Given the description of an element on the screen output the (x, y) to click on. 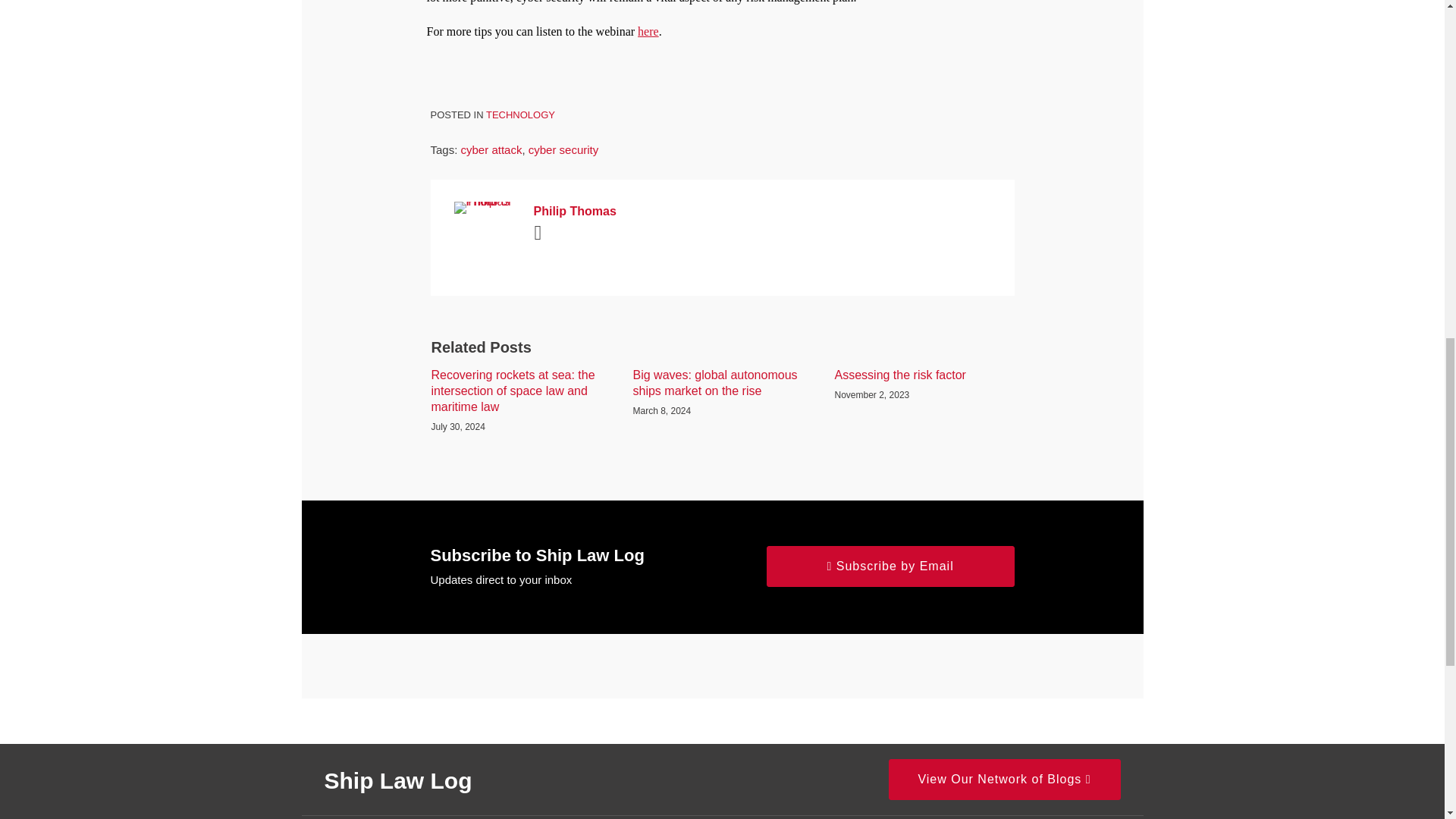
Assessing the risk factor (899, 375)
TECHNOLOGY (520, 114)
here (648, 31)
Big waves: global autonomous ships market on the rise (720, 383)
Ship Law Log (397, 780)
Subscribe by Email (890, 566)
cyber attack (491, 149)
cyber security (563, 149)
View Our Network of Blogs (1004, 779)
